Given the description of an element on the screen output the (x, y) to click on. 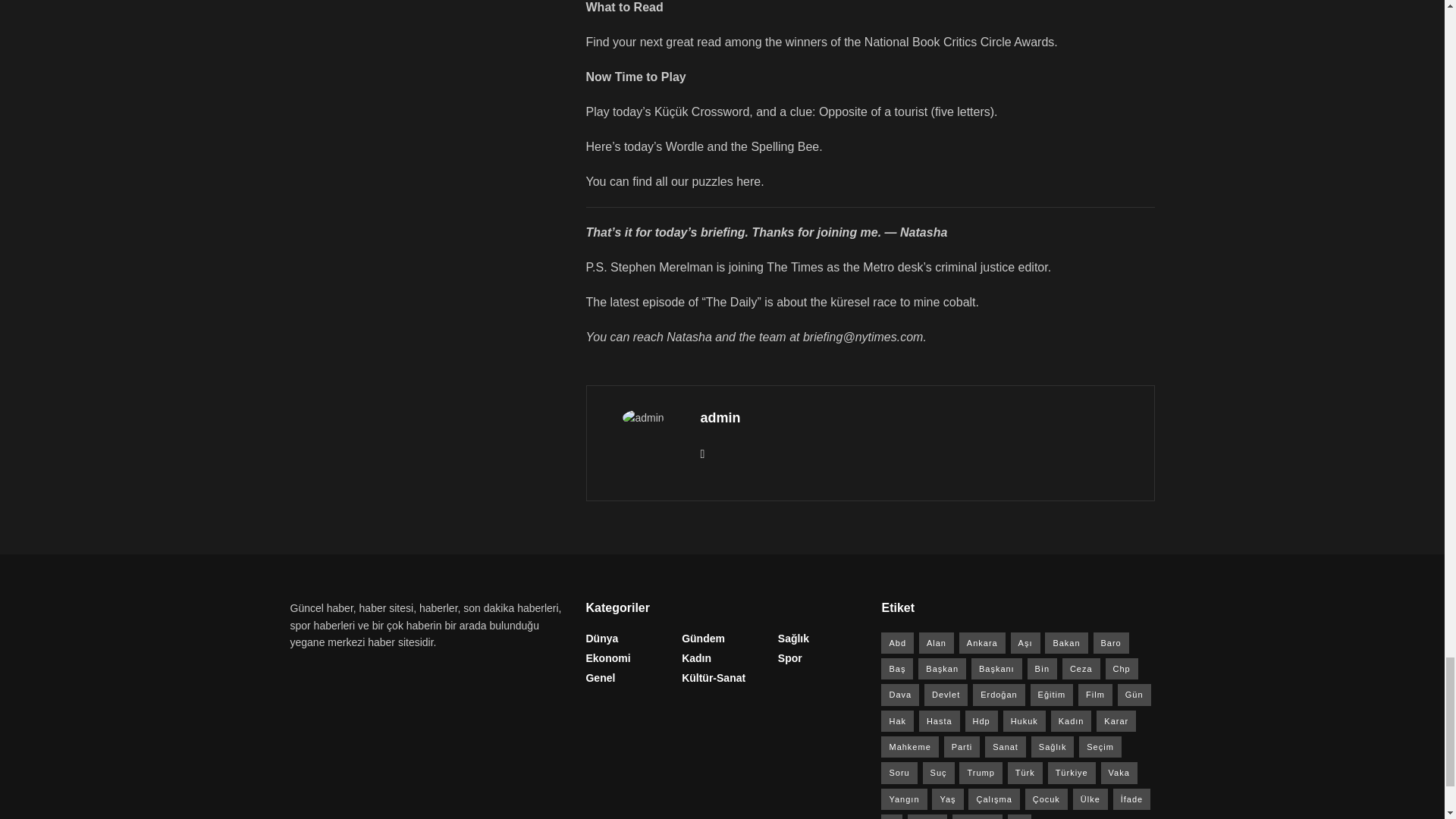
admin (720, 417)
